Given the description of an element on the screen output the (x, y) to click on. 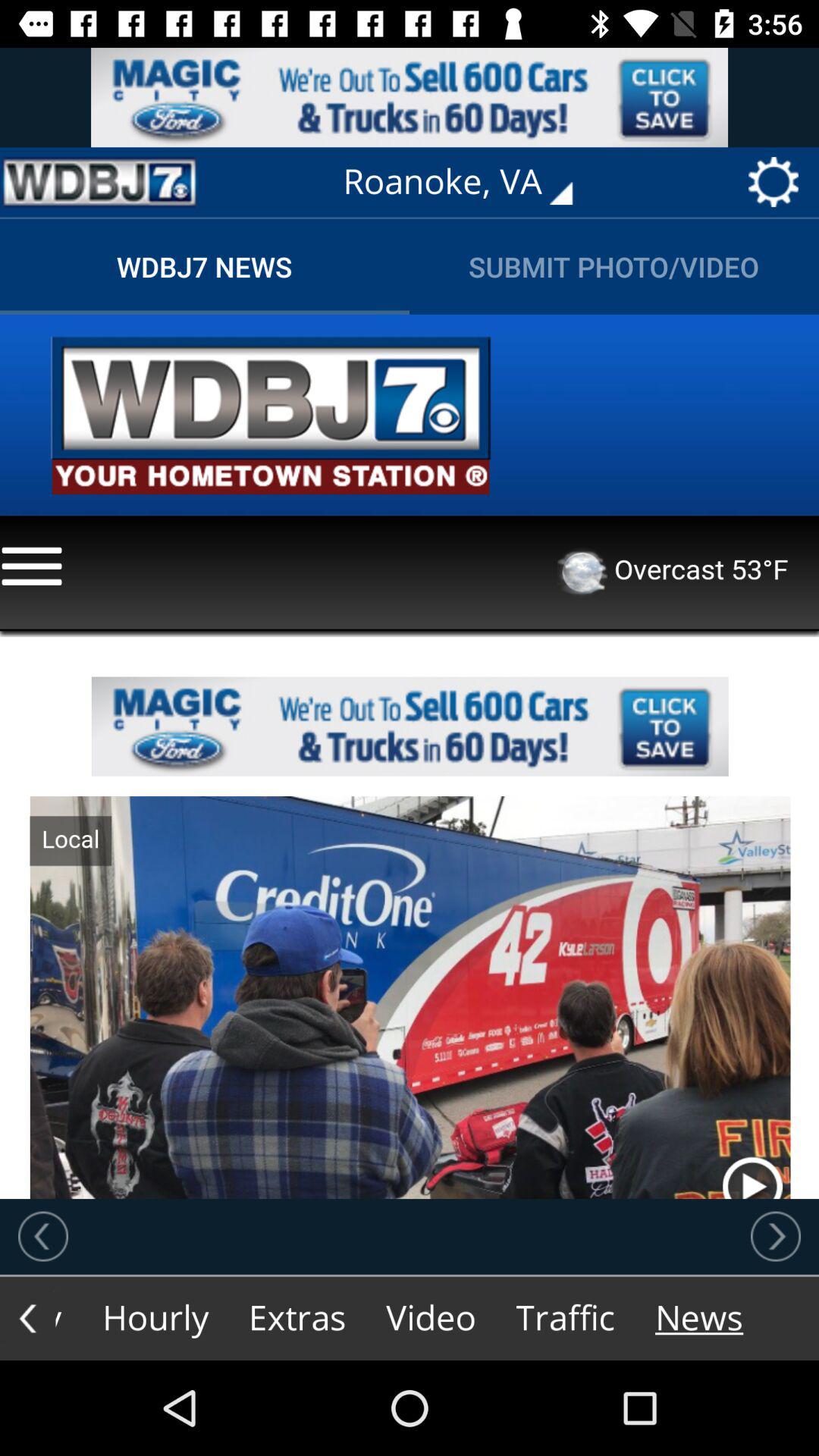
go to homepage (99, 182)
